Given the description of an element on the screen output the (x, y) to click on. 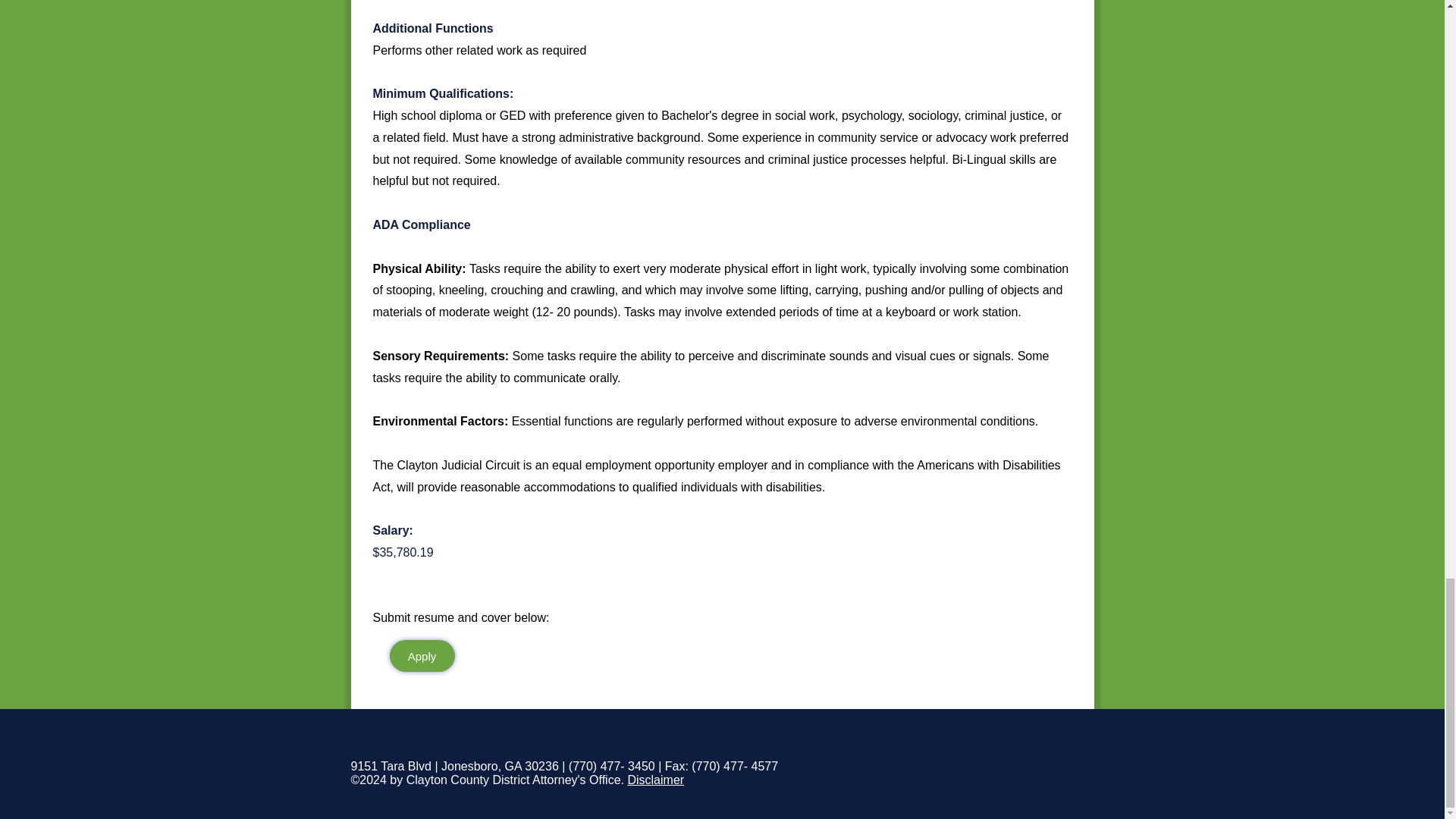
Apply (422, 655)
Disclaimer (655, 779)
